Given the description of an element on the screen output the (x, y) to click on. 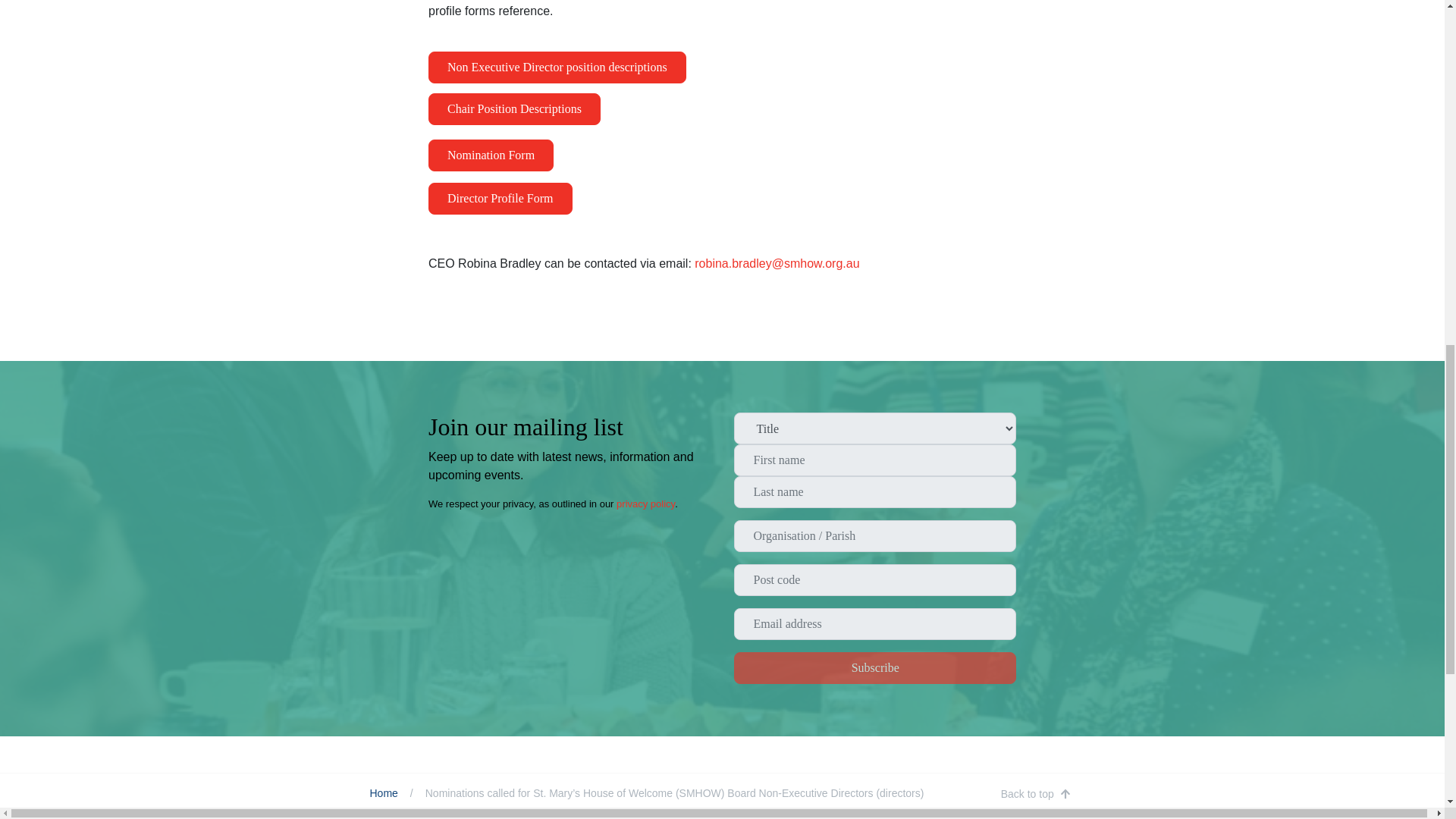
Subscribe (874, 667)
Non Executive Director position descriptions (556, 67)
Chair Position Descriptions (513, 109)
privacy policy (645, 503)
Back to top   (1035, 794)
Nomination Form (490, 155)
Director Profile Form (500, 198)
Back to top   (1035, 794)
Subscribe (874, 667)
